Given the description of an element on the screen output the (x, y) to click on. 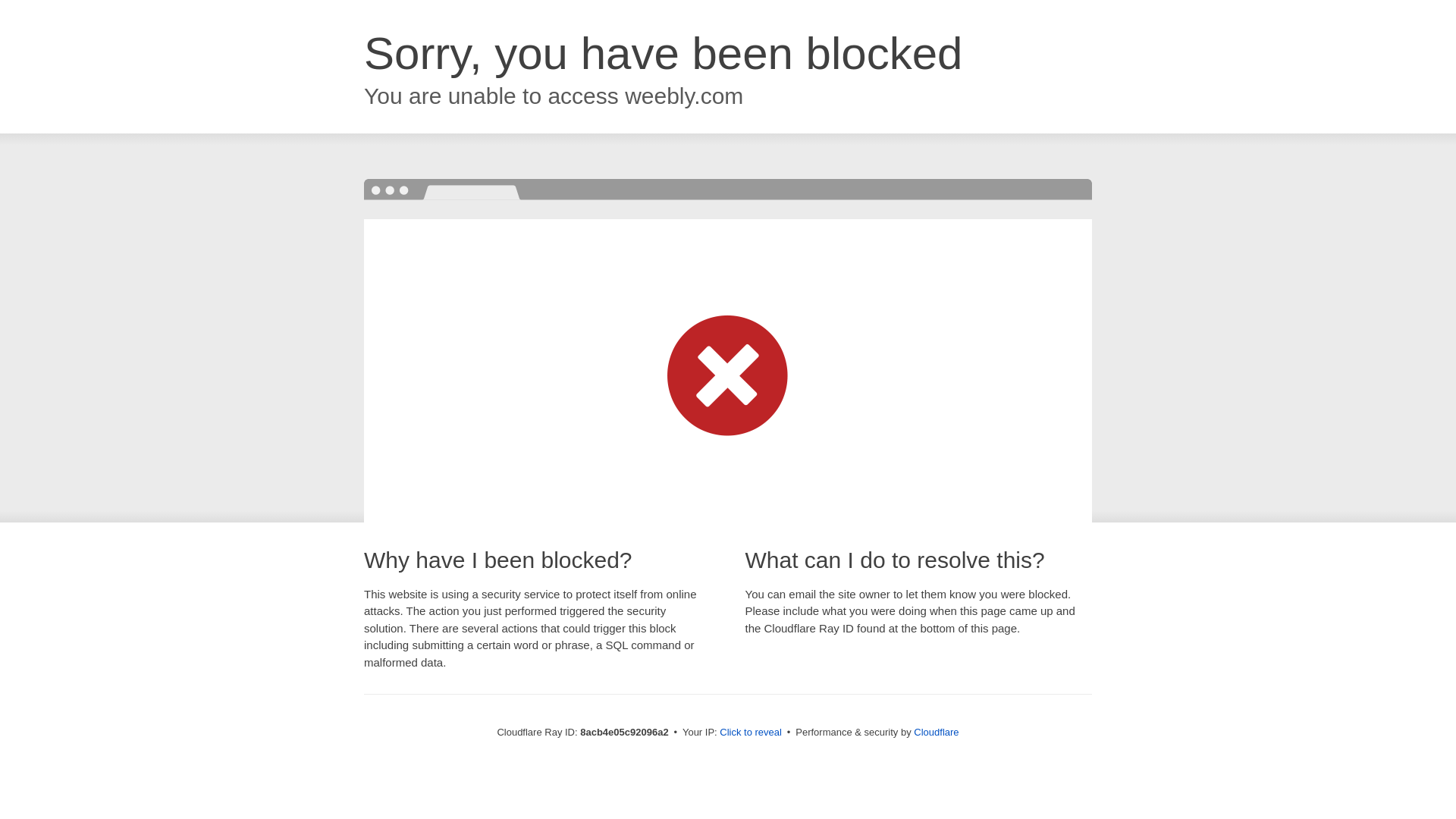
Cloudflare (936, 731)
Click to reveal (750, 732)
